Given the description of an element on the screen output the (x, y) to click on. 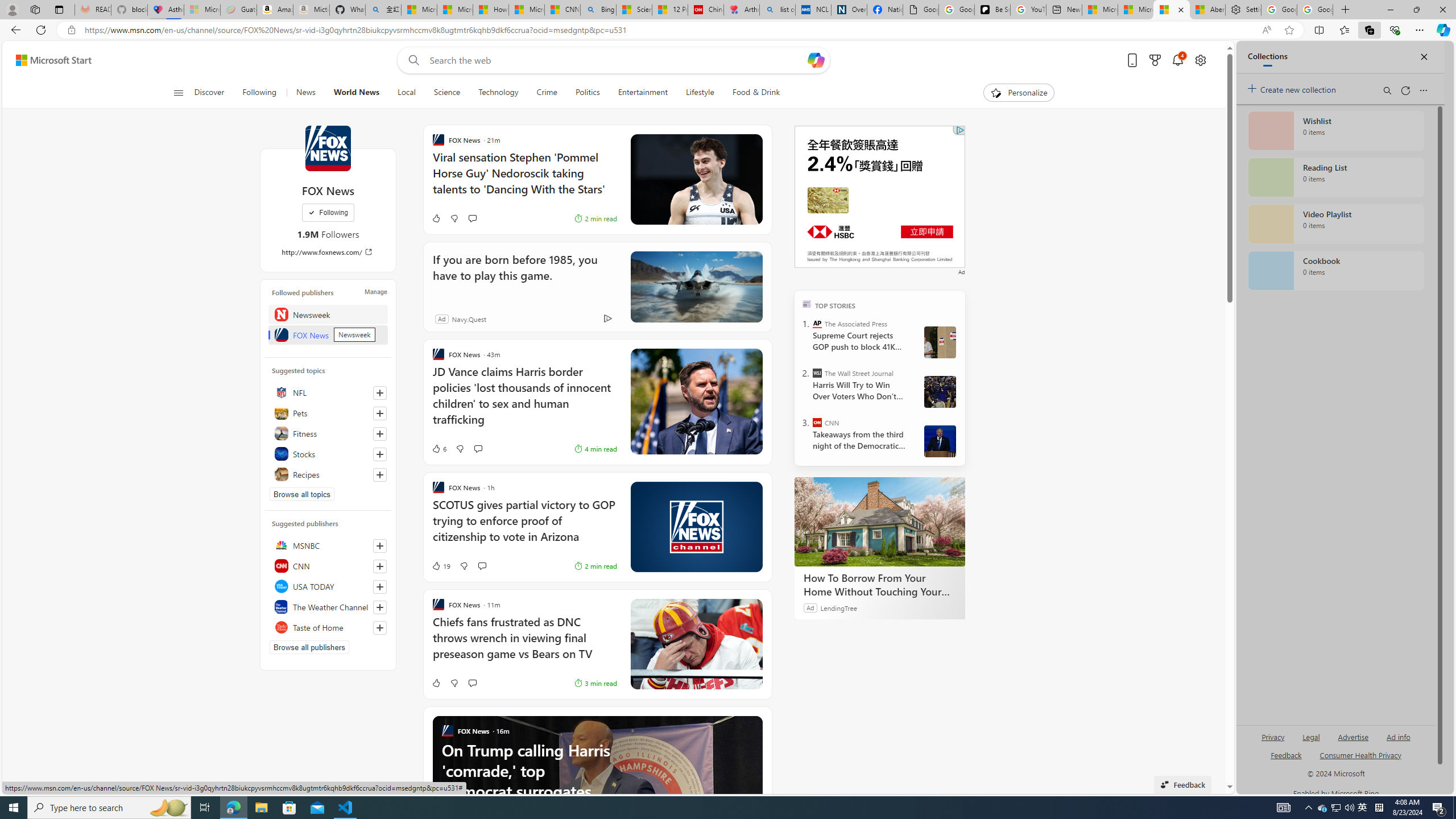
The Weather Channel (327, 606)
Browse all topics (301, 494)
AutomationID: genId96 (1285, 759)
